Given the description of an element on the screen output the (x, y) to click on. 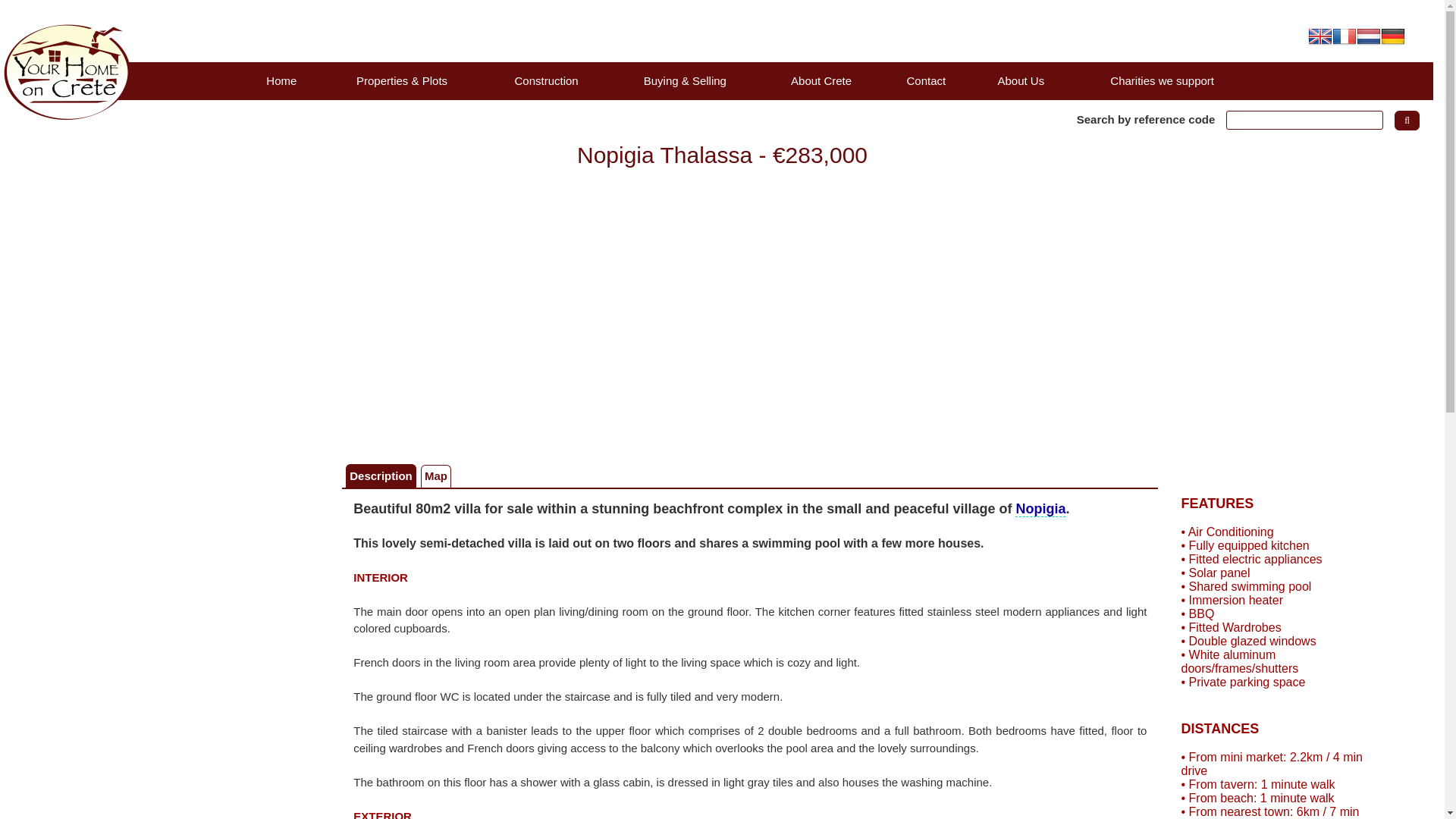
About Us (1020, 80)
English (1319, 34)
About Crete (821, 80)
Nederlands (1368, 34)
Charities we support (1161, 80)
Deutsch (1392, 34)
Home (281, 80)
Construction (545, 80)
Contact (925, 80)
